Given the description of an element on the screen output the (x, y) to click on. 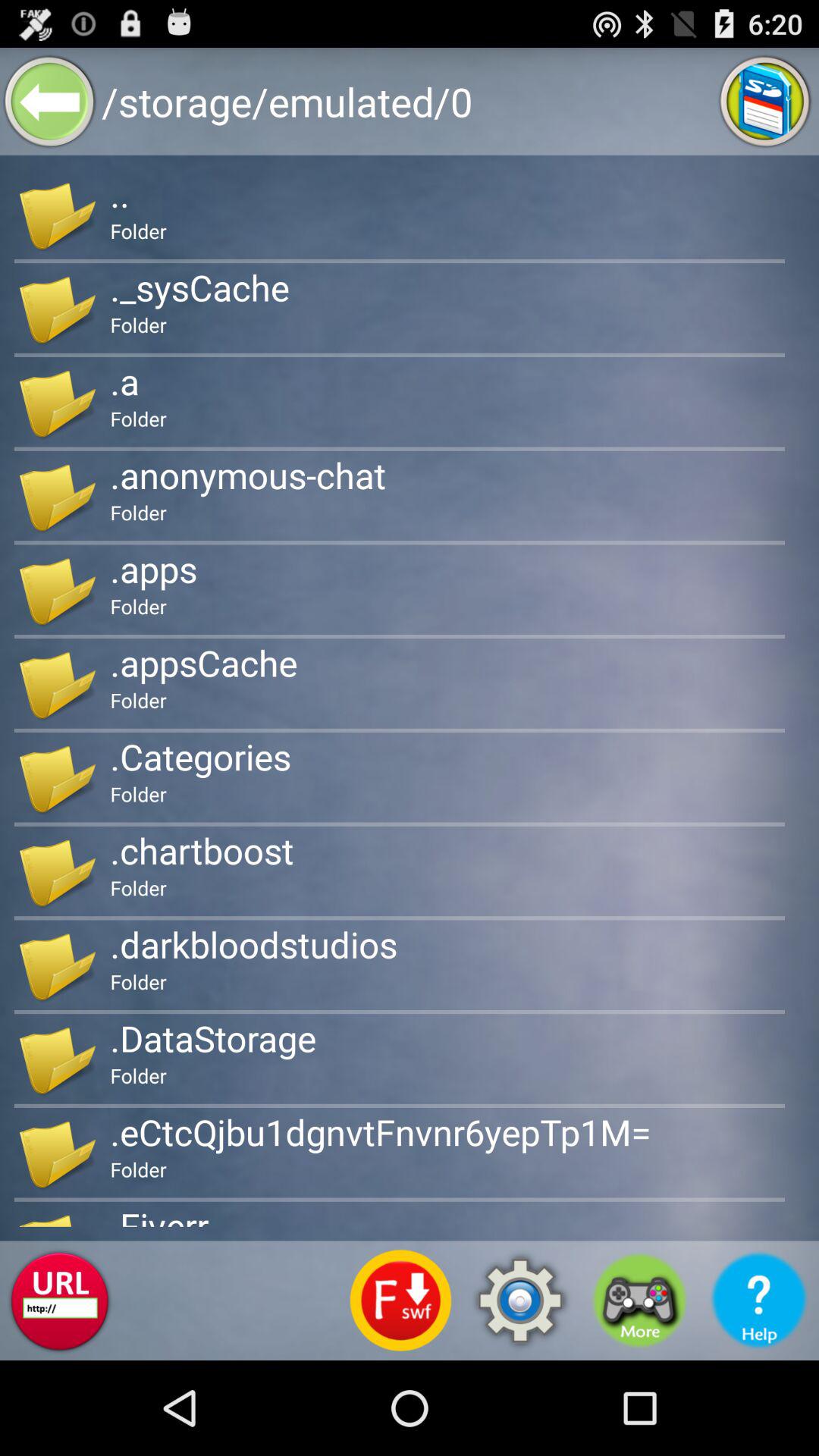
open the icon above folder app (119, 193)
